Given the description of an element on the screen output the (x, y) to click on. 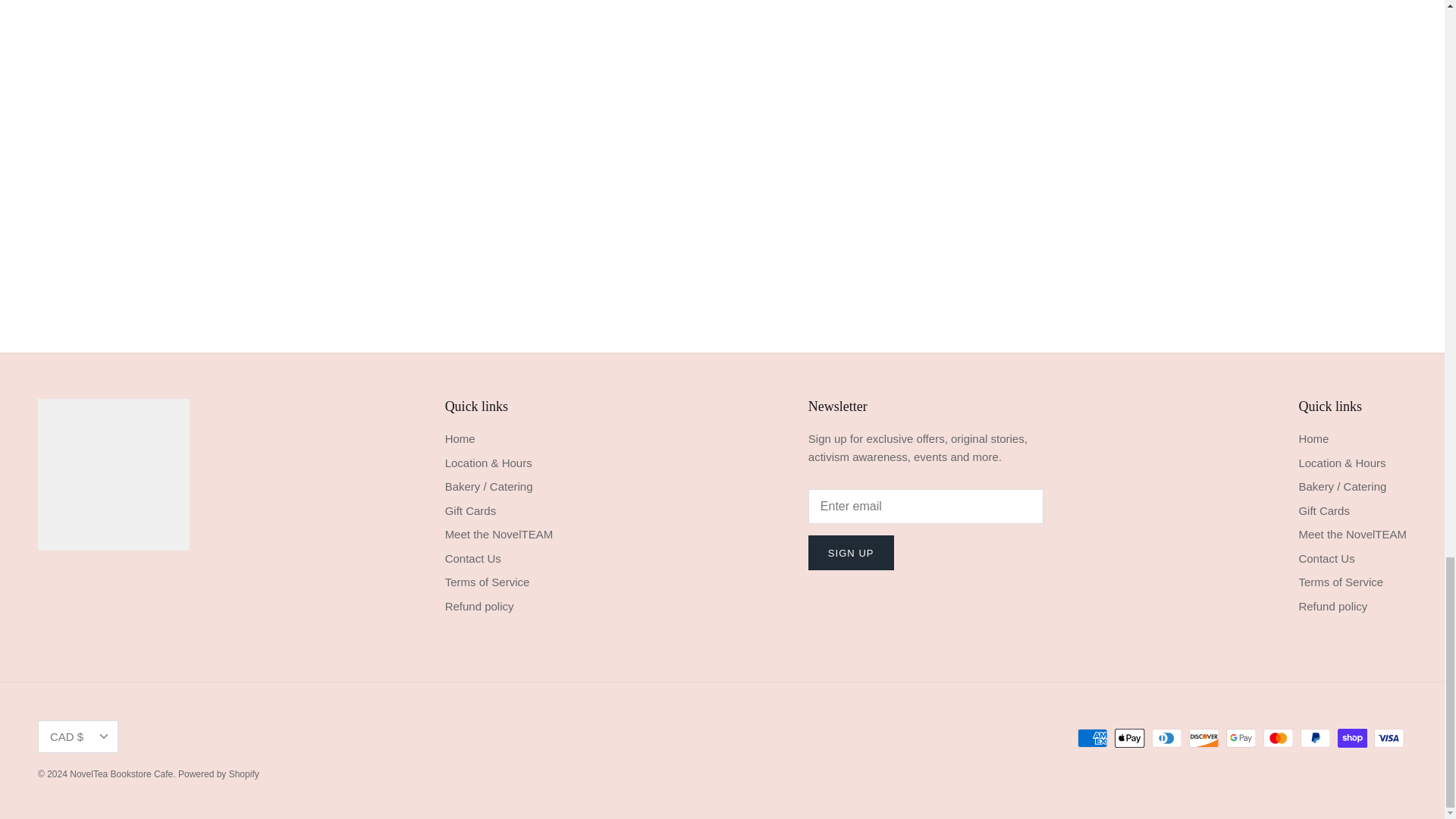
Discover (1203, 737)
Mastercard (1277, 737)
PayPal (1315, 737)
Apple Pay (1129, 737)
Diners Club (1166, 737)
Shop Pay (1352, 737)
Down (103, 735)
Google Pay (1240, 737)
American Express (1092, 737)
Visa (1388, 737)
